Given the description of an element on the screen output the (x, y) to click on. 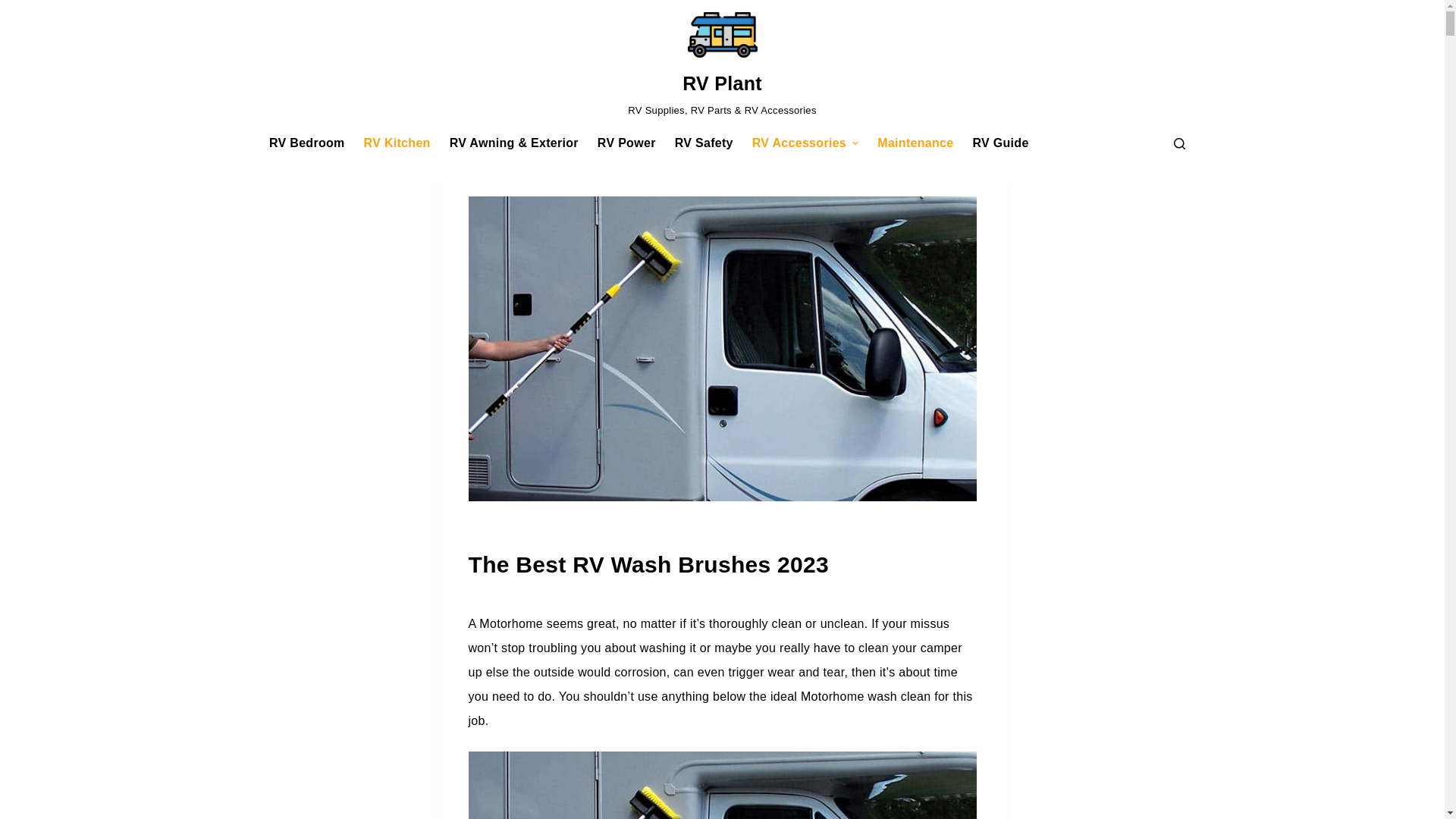
Maintenance (914, 143)
RV Plant (721, 83)
RV Kitchen (396, 143)
Skip to content (15, 7)
RV Accessories (804, 143)
The Best RV Wash Brushes 2023 (722, 564)
RV Guide (1000, 143)
RV Bedroom (306, 143)
RV Power (626, 143)
RV Safety (703, 143)
